Given the description of an element on the screen output the (x, y) to click on. 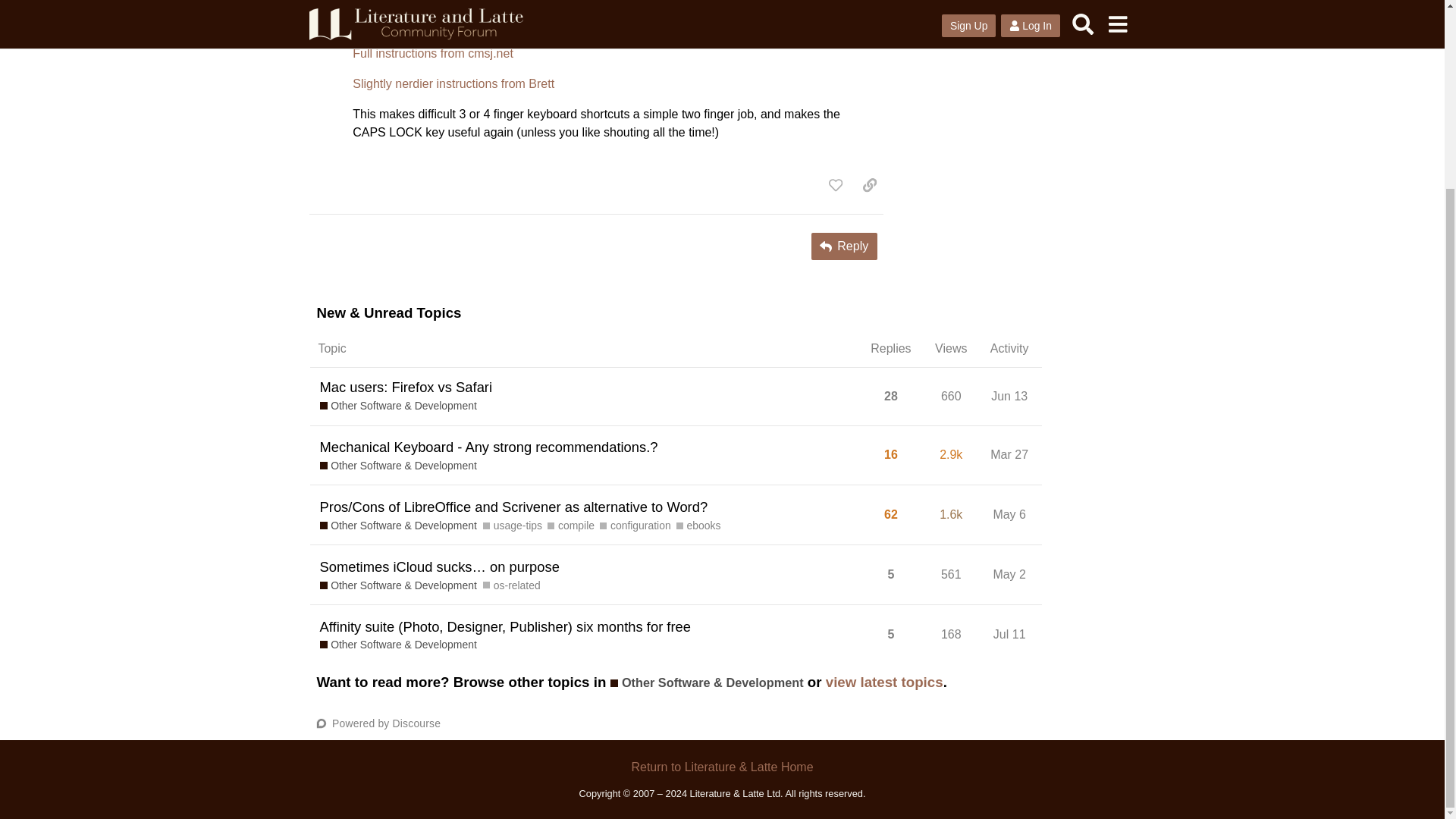
Mechanical Keyboard - Any strong recommendations.? (489, 446)
this topic has been viewed 2909 times (950, 454)
usage-tips (512, 525)
May 6 (1011, 455)
Mac users: Firefox vs Safari (1008, 514)
copy a link to this post to clipboard (406, 386)
os-related (869, 184)
Full instructions from cmsj.net (511, 585)
like this post (432, 52)
